Given the description of an element on the screen output the (x, y) to click on. 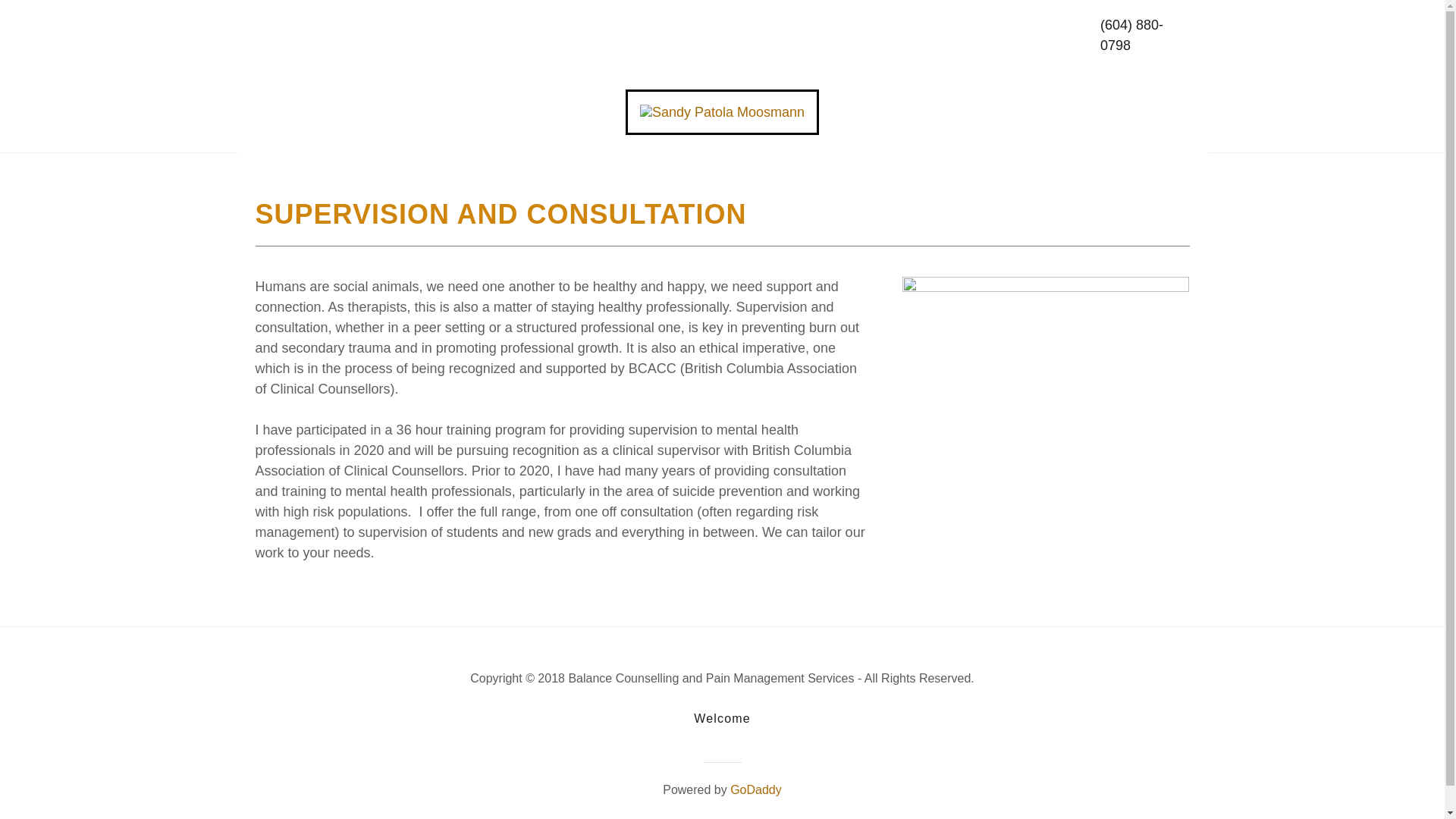
Sandy Patola Moosmann Element type: hover (722, 111)
(604) 880-0798 Element type: text (1131, 35)
Welcome Element type: text (721, 718)
GoDaddy Element type: text (755, 789)
